Given the description of an element on the screen output the (x, y) to click on. 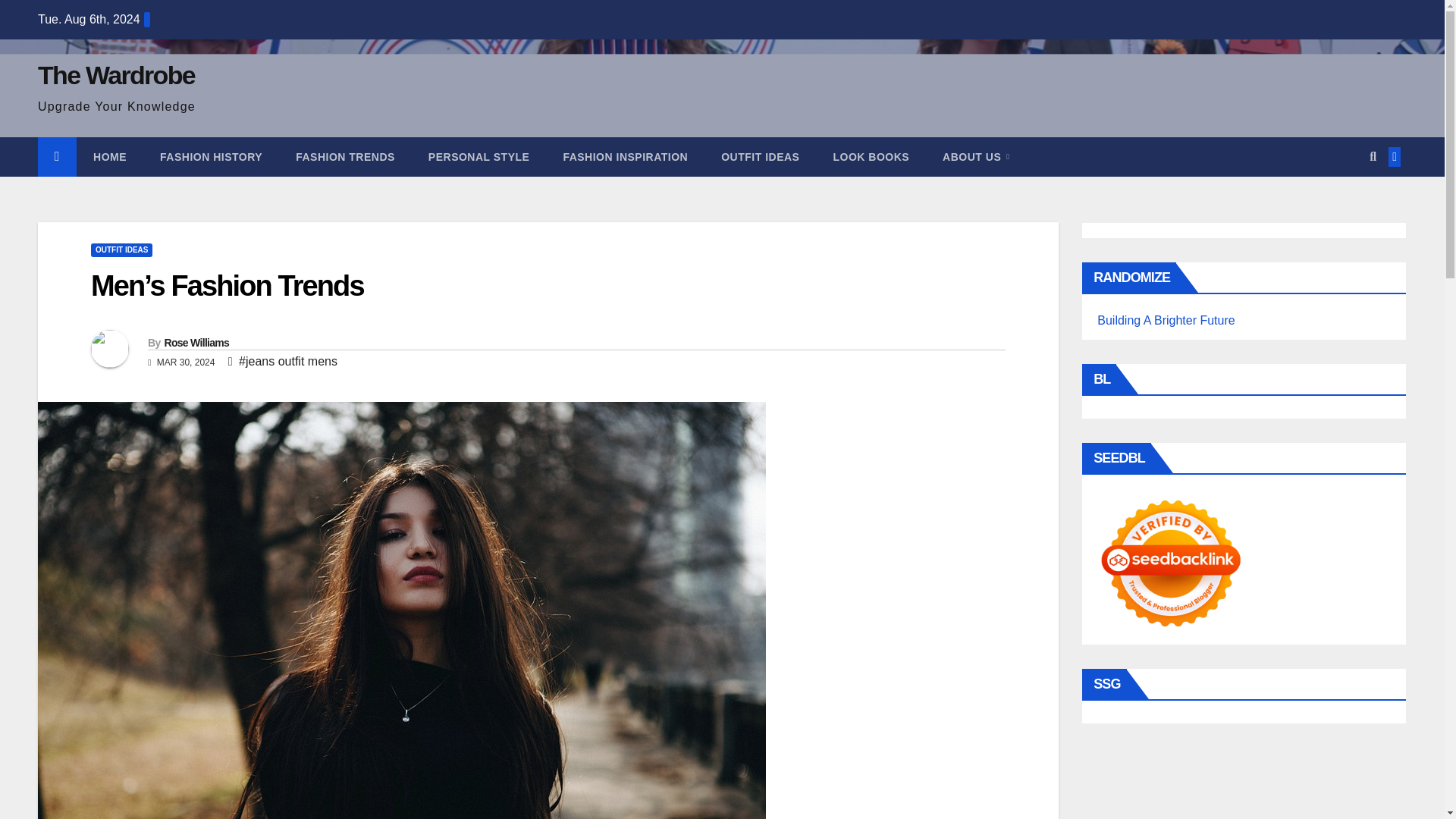
Home (109, 156)
Look Books (870, 156)
FASHION INSPIRATION (625, 156)
Fashion Inspiration (625, 156)
Fashion History (210, 156)
The Wardrobe (116, 74)
OUTFIT IDEAS (759, 156)
HOME (109, 156)
FASHION HISTORY (210, 156)
Fashion Trends (345, 156)
